Given the description of an element on the screen output the (x, y) to click on. 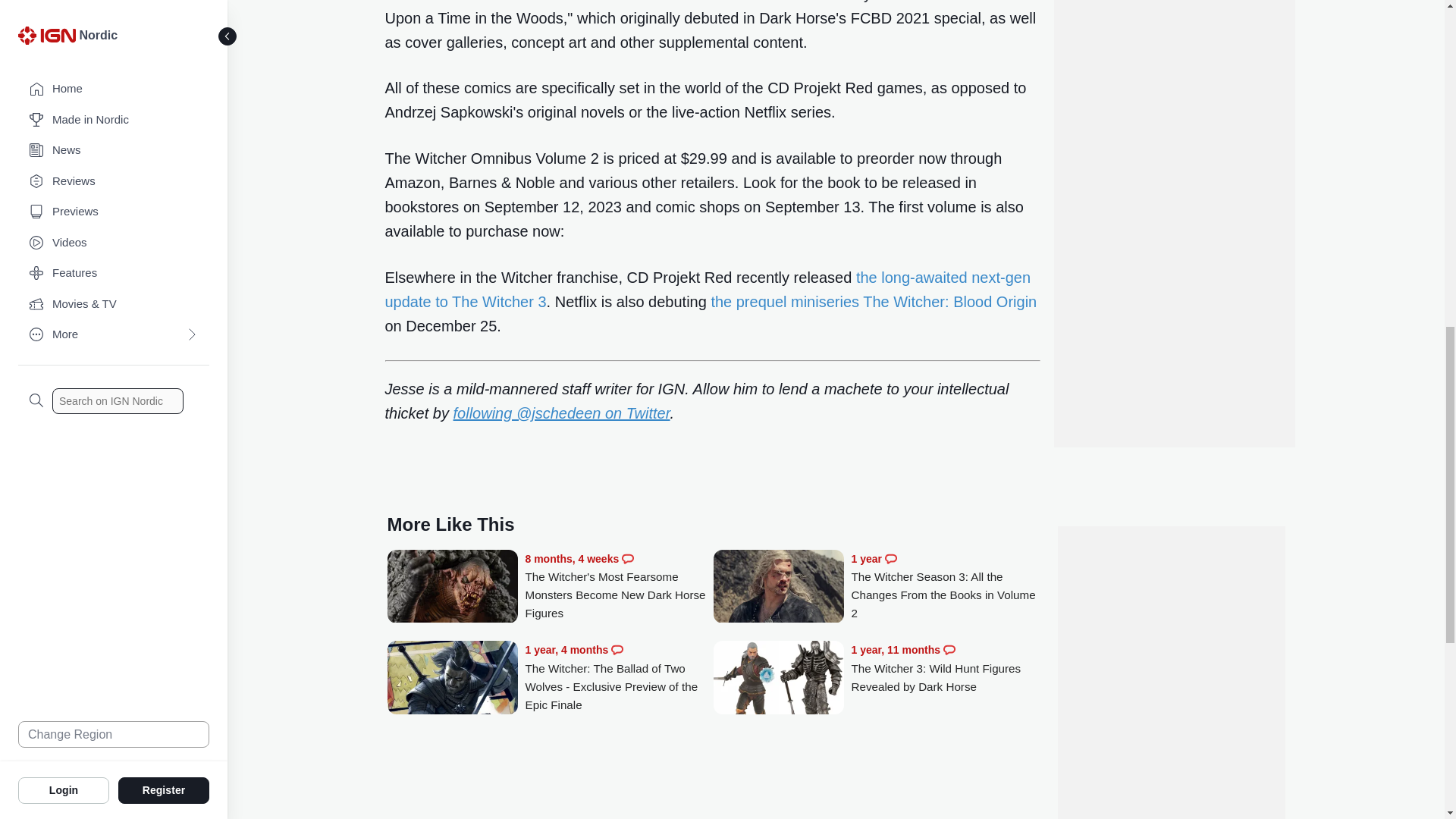
Comments (627, 558)
Comments (890, 558)
The Witcher 3: Wild Hunt Figures Revealed by Dark Horse (944, 668)
The Witcher 3: Wild Hunt Figures Revealed by Dark Horse (778, 678)
Comments (949, 649)
Comments (617, 649)
